Given the description of an element on the screen output the (x, y) to click on. 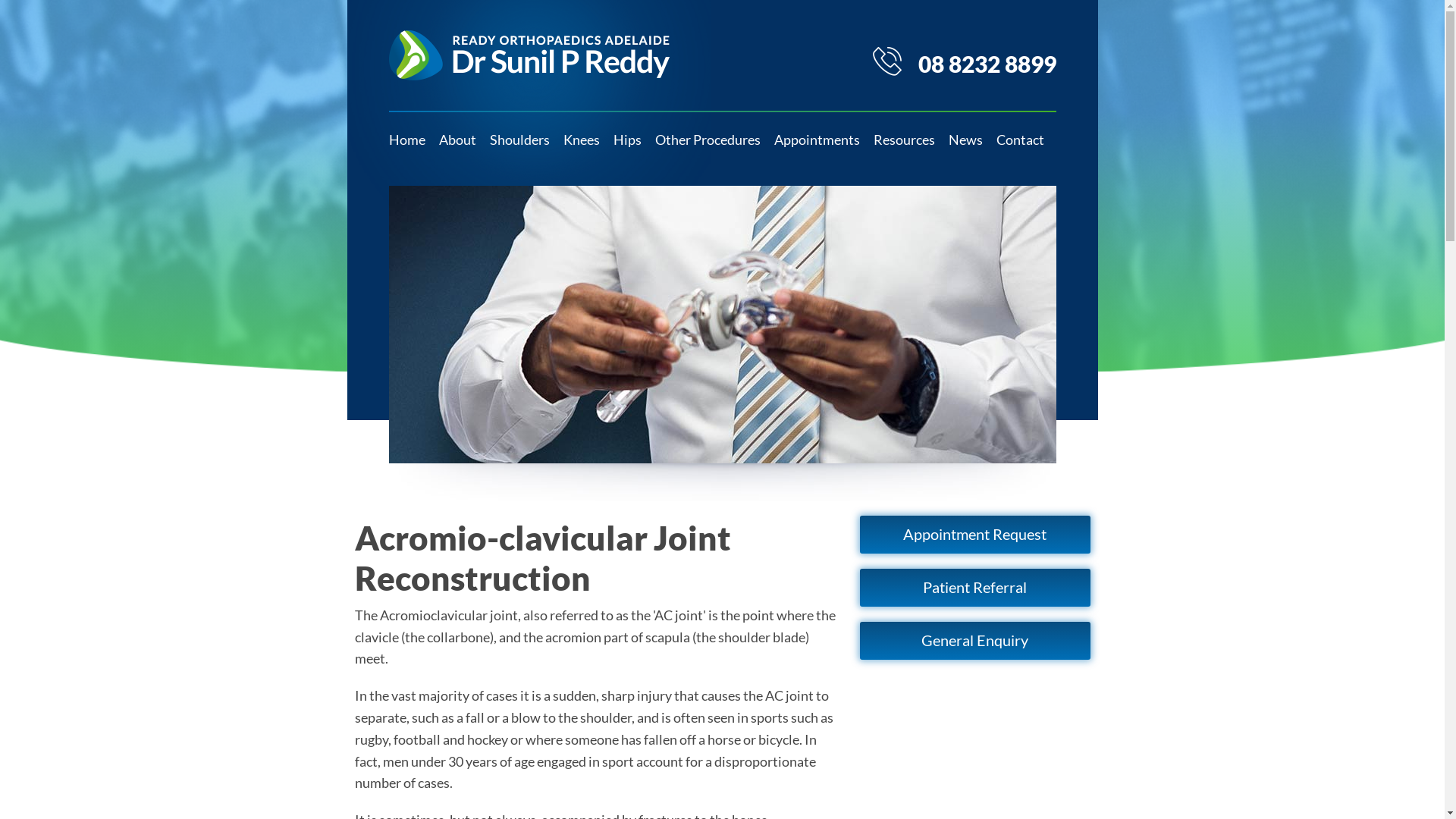
Total Hip Replacement (DAA-THR) Element type: text (632, 230)
Hips Element type: text (627, 139)
Arthroscopic Shoulder Surgery Element type: text (518, 332)
Knee Rehabilitation Protocols Element type: text (903, 230)
Other Procedures Element type: text (706, 139)
General Enquiry Element type: text (974, 640)
Arthroscopic Knee Surgery and Ligament Reconstruction Element type: text (582, 298)
Patient Referral Element type: text (974, 587)
New Patient Registration Element type: text (816, 332)
Your First Visit Element type: text (816, 366)
Total Knee Replacement Element type: text (582, 190)
Contact Us Element type: text (1019, 190)
Acromio-clavicular Joint Reconstruction Element type: text (518, 366)
Knees Element type: text (581, 139)
Resources Element type: text (903, 139)
Surgery for Shoulder Instability Element type: text (518, 298)
08 8232 8899 Element type: text (962, 63)
Skip to main content Element type: text (60, 0)
Knee Trauma Surgery Element type: text (582, 404)
Revision Total Knee Replacement Element type: text (582, 264)
Home Element type: text (409, 139)
Medico-Legal Element type: text (816, 472)
Shoulders Element type: text (518, 139)
FAQ Element type: text (816, 190)
Appointment Request Element type: text (974, 534)
Contact Element type: text (1019, 139)
High Tibial Osteotomy Element type: text (582, 366)
Rotator Cuff Repair Element type: text (518, 264)
Shoulder Trauma Surgery Element type: text (518, 404)
Total Shoulder Replacement Element type: text (518, 190)
Revision Total Hip Replacement Element type: text (632, 267)
Shoulder Rehabilitation Protocols Element type: text (903, 190)
Patient Referral Element type: text (816, 298)
Appointments Element type: text (816, 139)
Our Services Element type: text (458, 302)
Fees and Payment Element type: text (816, 434)
Video Gallery Element type: text (903, 267)
Unicompartmental Knee Replacement (UKR) Element type: text (582, 230)
News Element type: text (965, 139)
Appointment Request Element type: text (816, 264)
Our Team Element type: text (458, 230)
Reverse Total Shoulder Replacement Element type: text (518, 230)
About Element type: text (457, 139)
Hand and Wrist Procedures Element type: text (706, 230)
Surgery for Patellar Instability Element type: text (582, 332)
Total Hip Replacement Element type: text (632, 190)
Surgery for Nerve Compression Syndromes Element type: text (706, 267)
Locations Element type: text (1019, 233)
Orthopaedic Trauma Surgery Element type: text (706, 190)
Dr Sunil Reddy Element type: text (458, 190)
Your Surgery and Post-operative Care Element type: text (816, 400)
Our Practice Element type: text (458, 264)
Appointments Element type: text (816, 230)
